Given the description of an element on the screen output the (x, y) to click on. 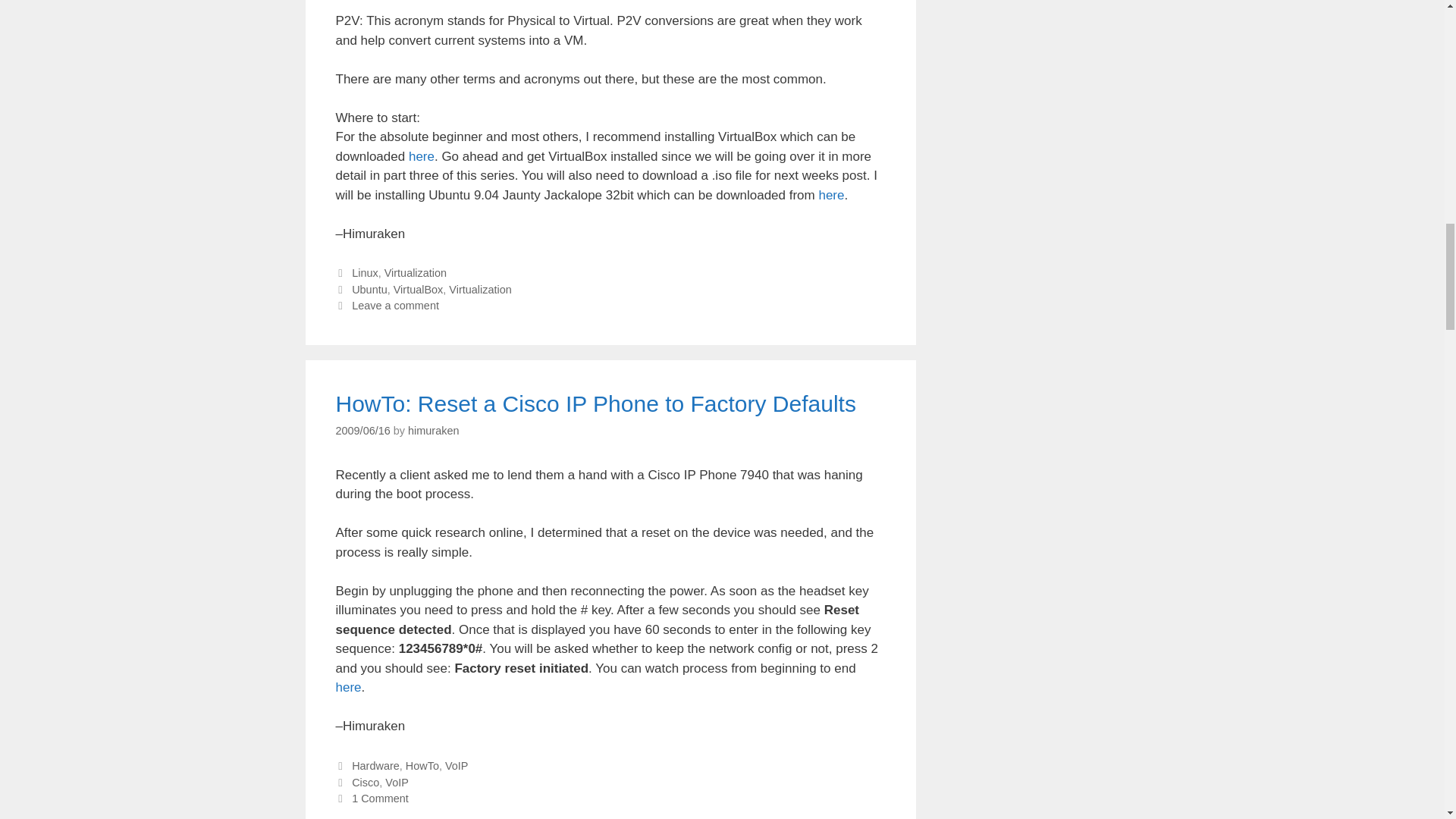
VoIP (456, 766)
Virtualization (415, 272)
himuraken (432, 430)
Leave a comment (395, 305)
VirtualBox (418, 289)
VoIP (397, 782)
here (421, 156)
HowTo: Reset a Cisco IP Phone to Factory Defaults (595, 403)
View all posts by himuraken (432, 430)
Ubuntu (369, 289)
here (831, 195)
HowTo (422, 766)
Hardware (375, 766)
here (347, 687)
1 Comment (380, 798)
